Given the description of an element on the screen output the (x, y) to click on. 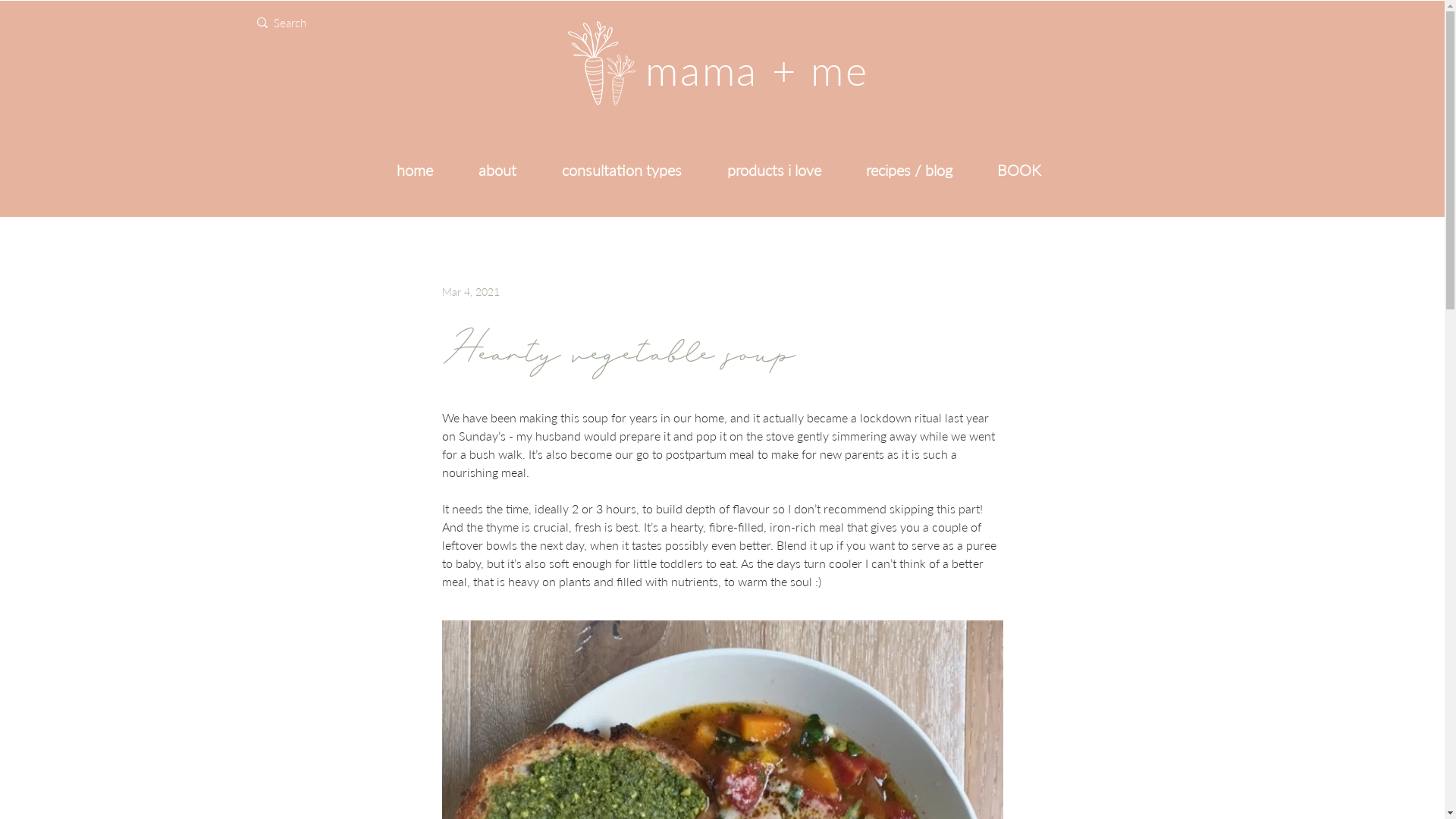
recipes / blog Element type: text (908, 169)
about Element type: text (496, 169)
consultation types Element type: text (620, 169)
BOOK Element type: text (1019, 169)
home Element type: text (414, 169)
mama + me Element type: text (756, 71)
products i love Element type: text (773, 169)
